Given the description of an element on the screen output the (x, y) to click on. 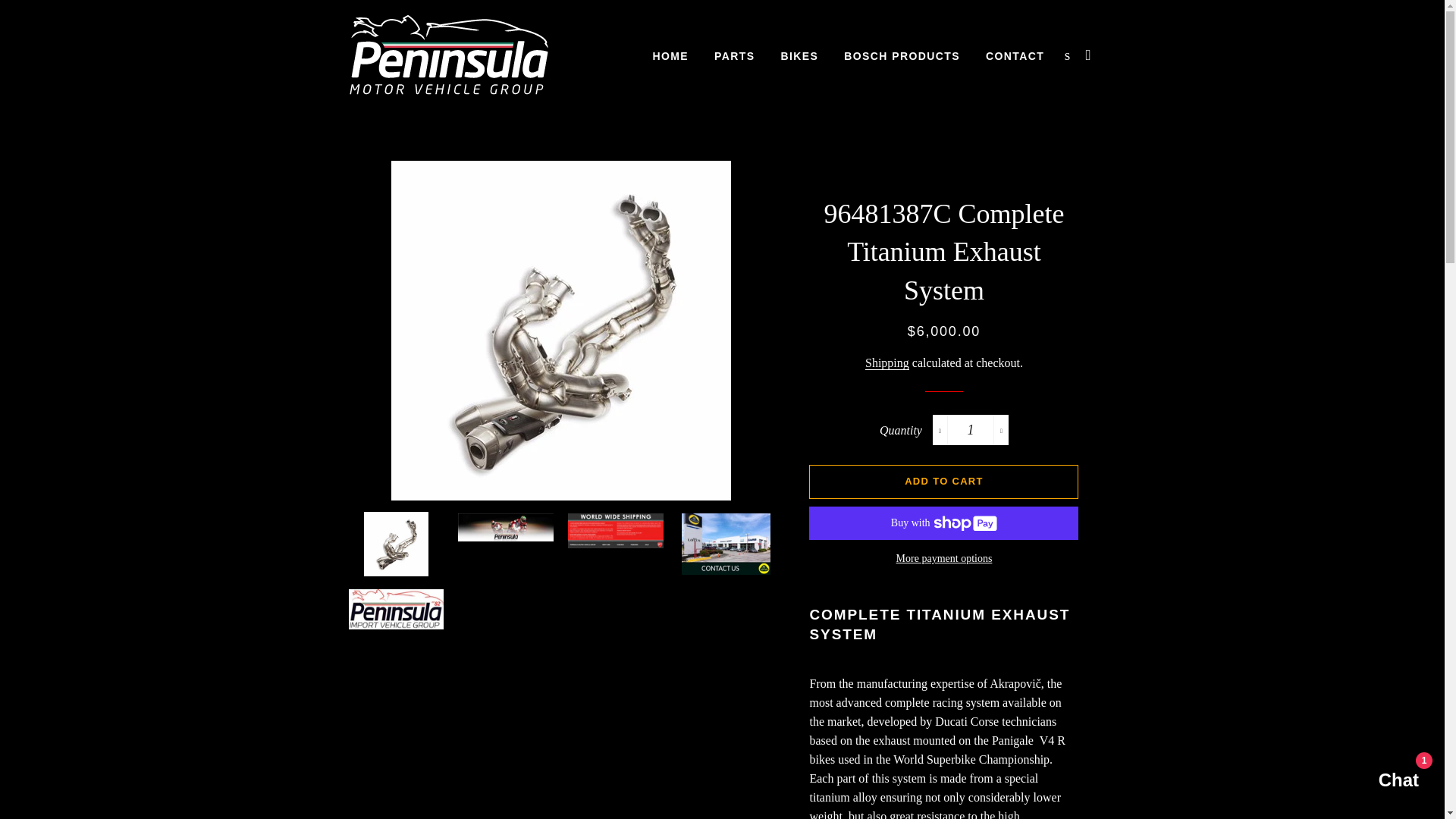
Shopify online store chat (1383, 781)
HOME (670, 56)
BOSCH PRODUCTS (901, 56)
1 (971, 429)
PARTS (734, 56)
More payment options (943, 558)
BIKES (799, 56)
CONTACT (1014, 56)
ADD TO CART (943, 481)
Shipping (886, 363)
